Given the description of an element on the screen output the (x, y) to click on. 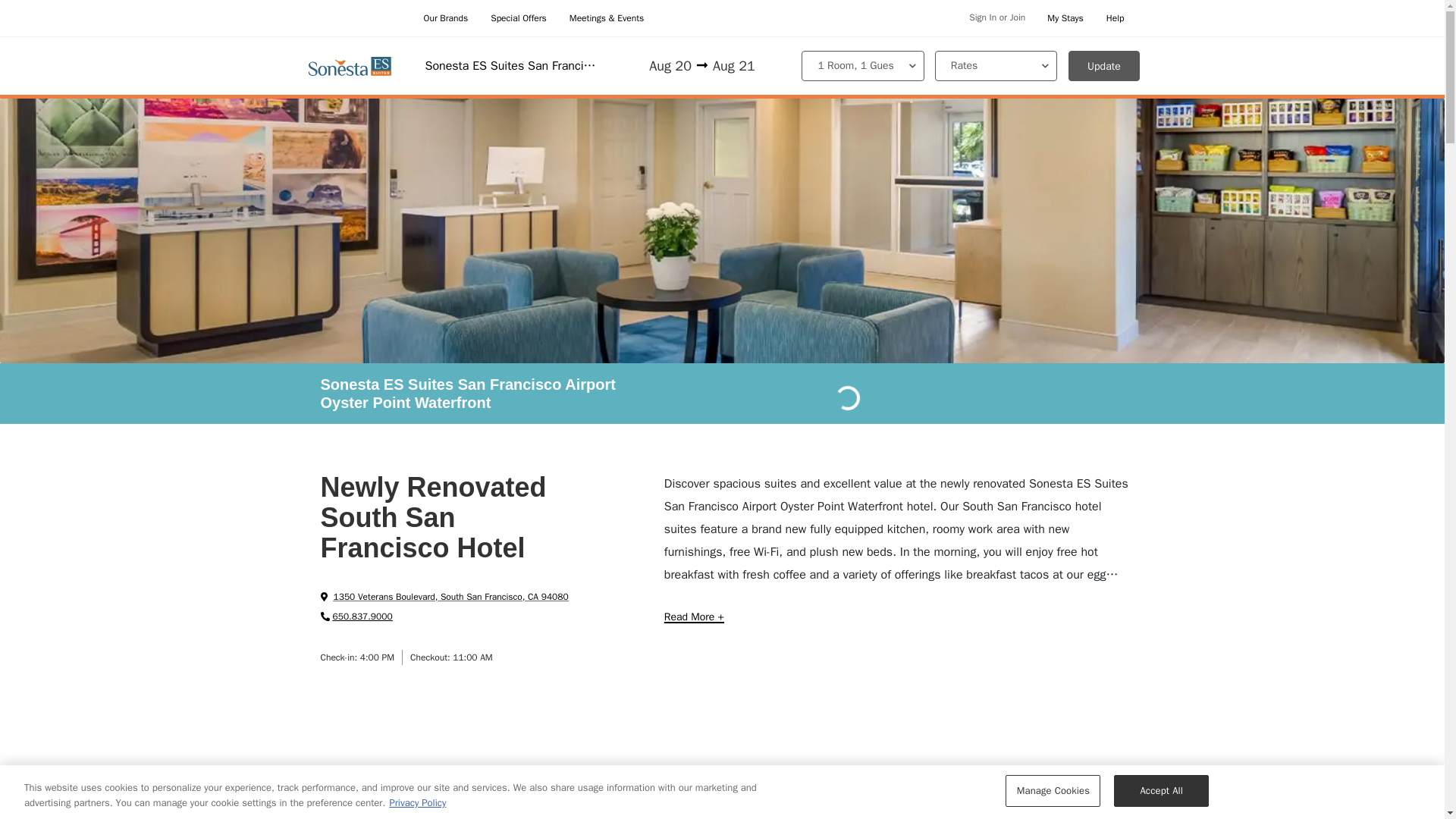
650.837.9000 (355, 616)
Update (1104, 65)
Aug 21 (747, 66)
1350 Veterans Boulevard, South San Francisco, CA 94080 (443, 596)
1 Room, 1 Guest (862, 65)
Rates (995, 65)
My Stays (1064, 18)
Sign In or Join (994, 18)
Our Brands (445, 18)
